Given the description of an element on the screen output the (x, y) to click on. 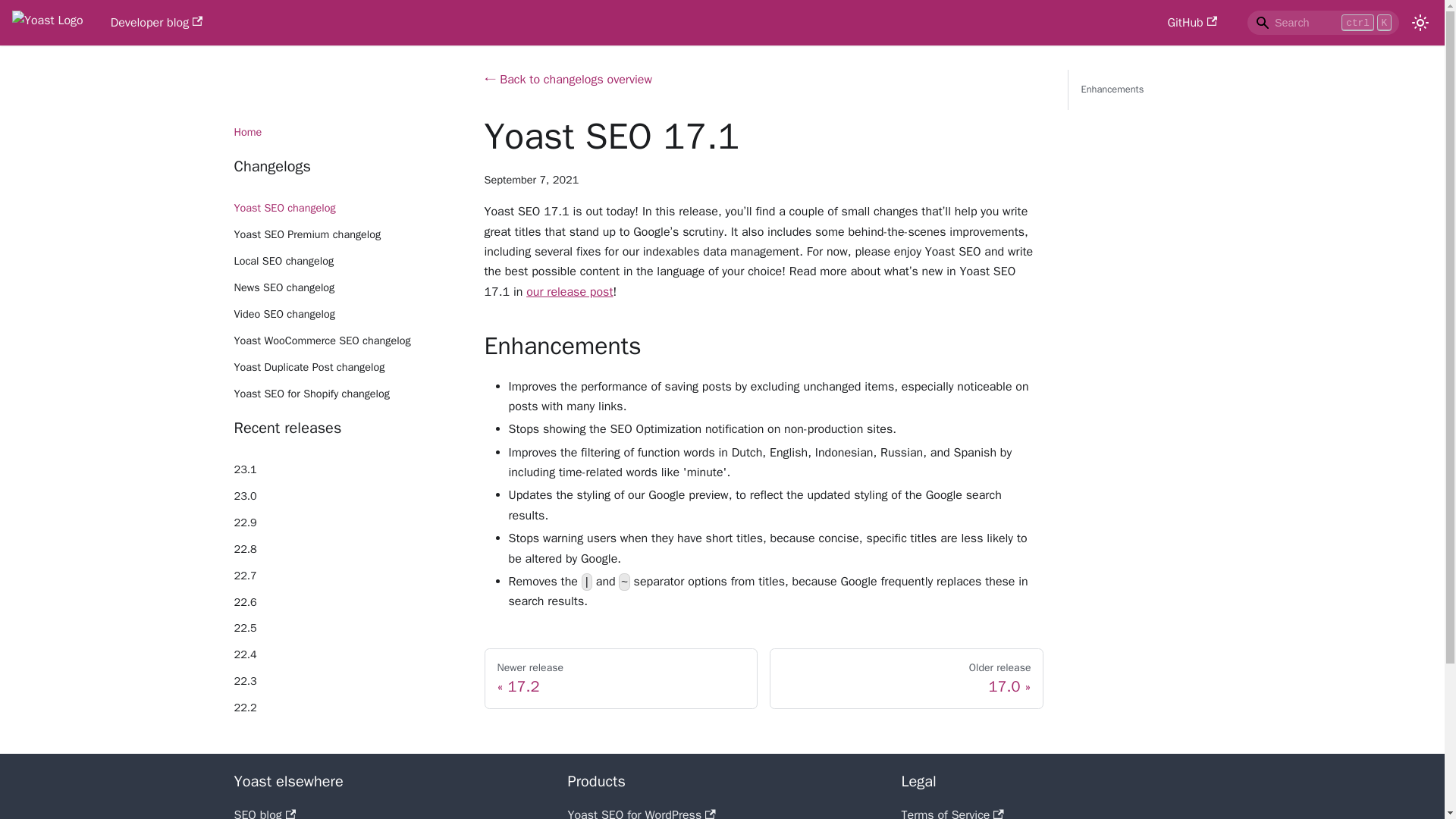
Enhancements (1138, 89)
22.2 (346, 708)
Enhancements (1142, 89)
Local SEO changelog (346, 261)
Yoast Duplicate Post changelog (346, 367)
Yoast SEO for Shopify changelog (346, 393)
Video SEO changelog (346, 314)
Yoast WooCommerce SEO changelog (346, 341)
23.1 (346, 470)
22.5 (346, 628)
Yoast SEO for WordPress (640, 813)
SEO blog (263, 813)
Developer blog (620, 679)
